Given the description of an element on the screen output the (x, y) to click on. 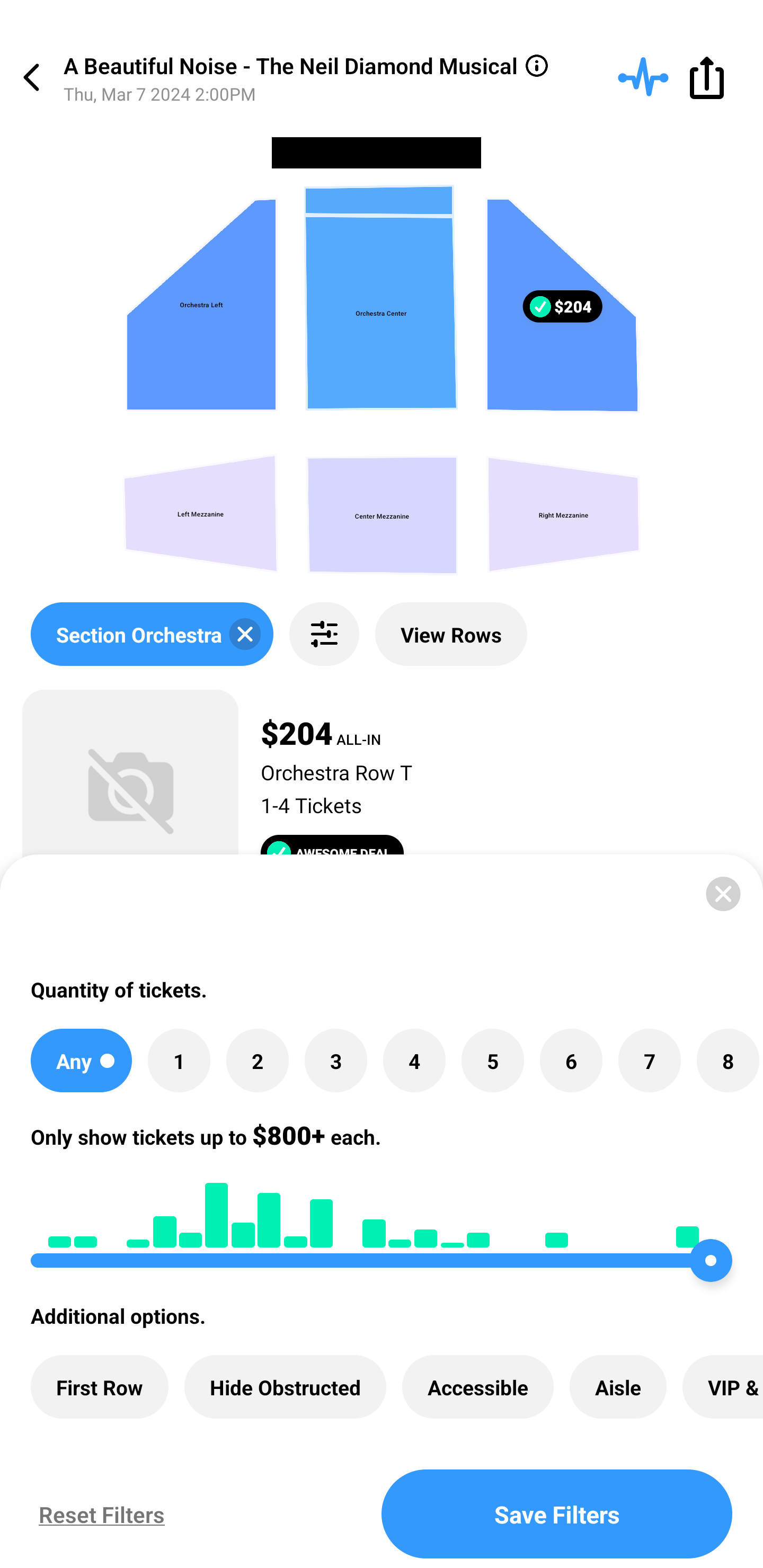
Any (80, 1060)
1 (179, 1060)
2 (257, 1060)
3 (335, 1060)
4 (414, 1060)
5 (492, 1060)
6 (571, 1060)
7 (649, 1060)
8 (727, 1060)
First Row (99, 1386)
Hide Obstructed (285, 1386)
Accessible (477, 1386)
Aisle (617, 1386)
Save Filters (556, 1513)
Reset Filters (97, 1513)
